Given the description of an element on the screen output the (x, y) to click on. 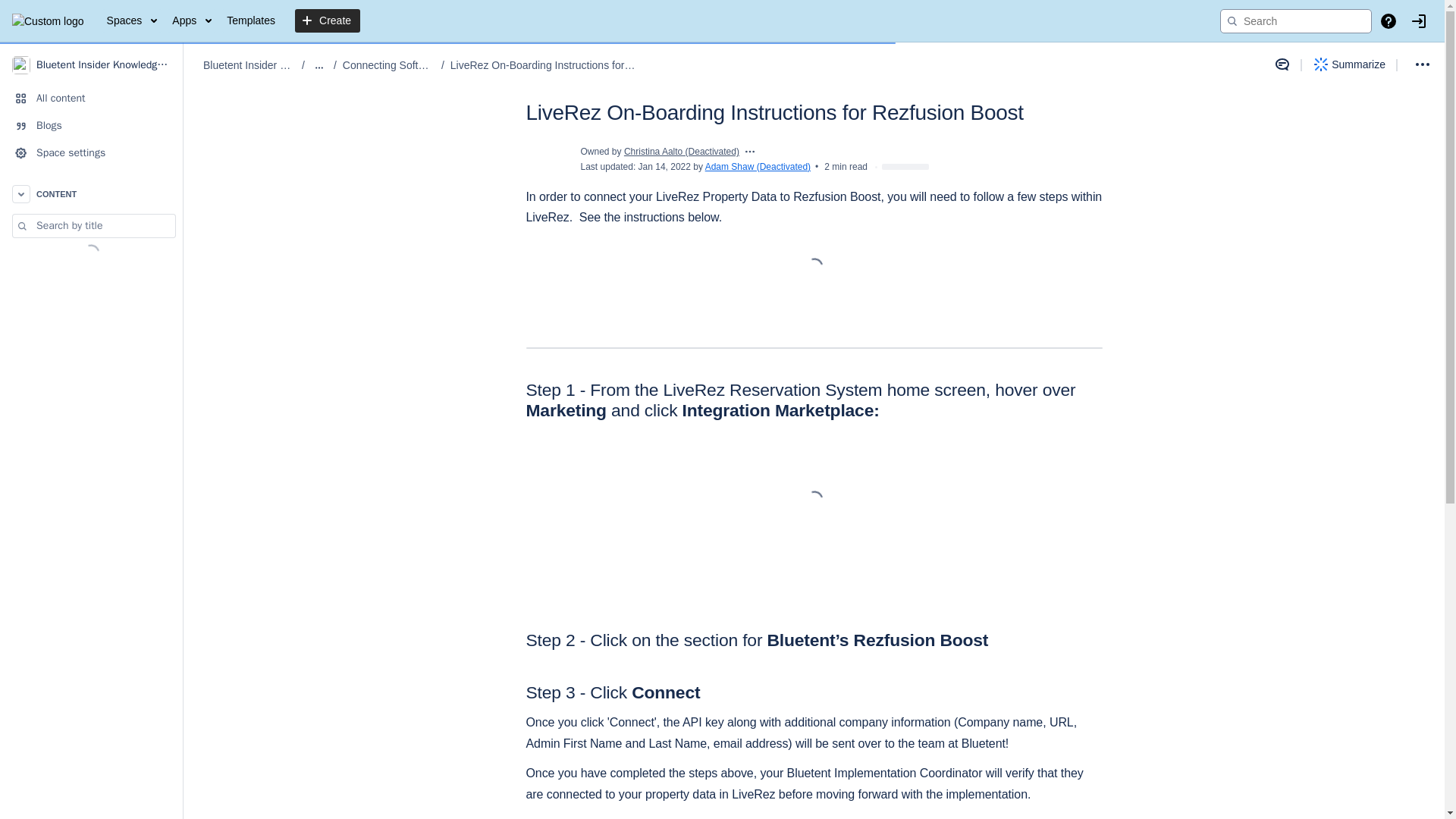
LiveRez On-Boarding Instructions for Rezfusion Boost (541, 64)
Spaces (131, 21)
Templates (250, 21)
Jan 14, 2022 (664, 166)
Bluetent Insider Knowledge Base (90, 64)
Summarize (1349, 64)
Bluetent Insider Knowledge Base (249, 64)
Blogs (90, 125)
All content (90, 98)
Create (327, 21)
Space settings (90, 153)
Apps (191, 21)
CONTENT (90, 194)
